Given the description of an element on the screen output the (x, y) to click on. 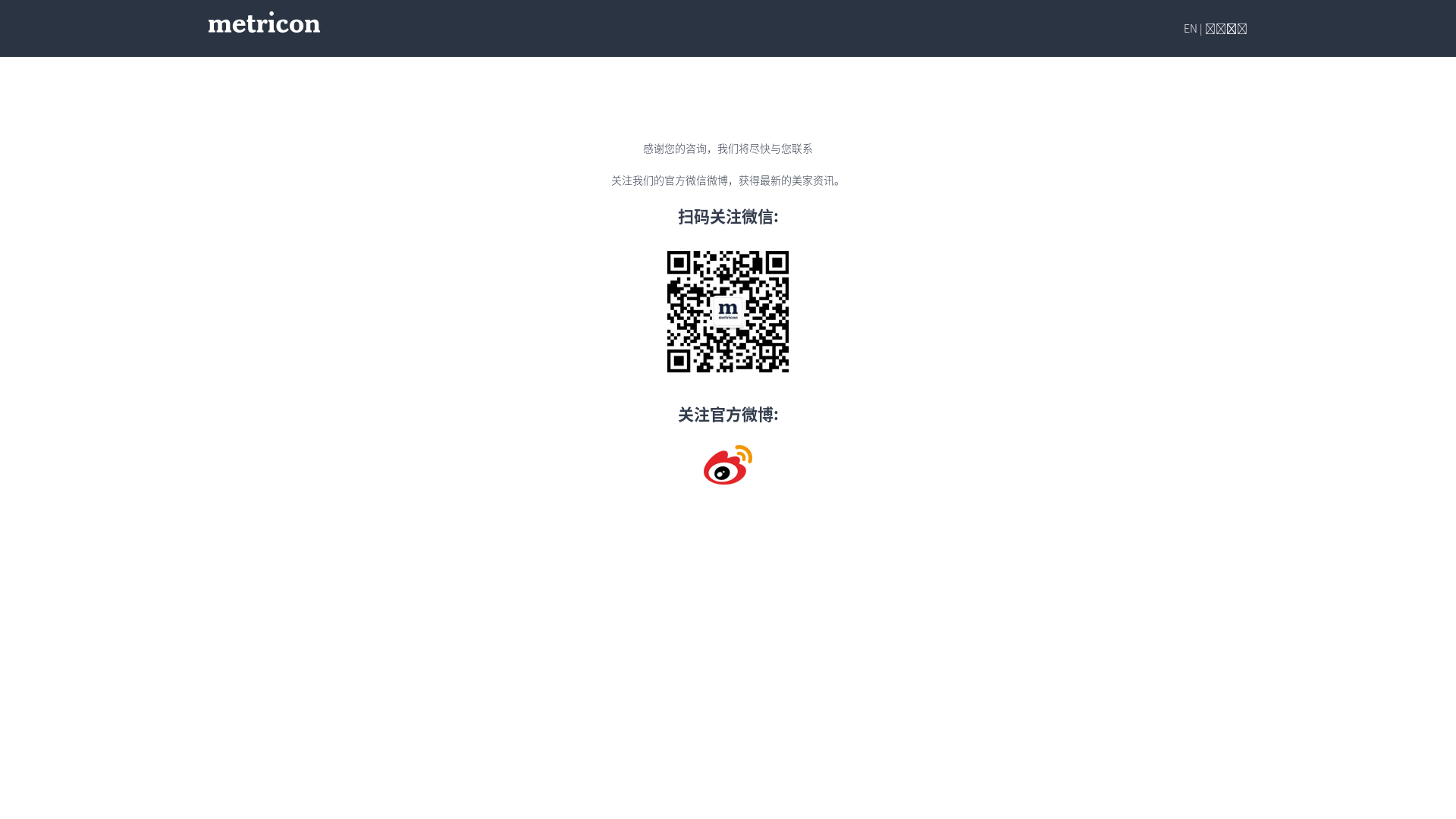
in.metricon Element type: text (255, 95)
EN Element type: text (1190, 27)
